Given the description of an element on the screen output the (x, y) to click on. 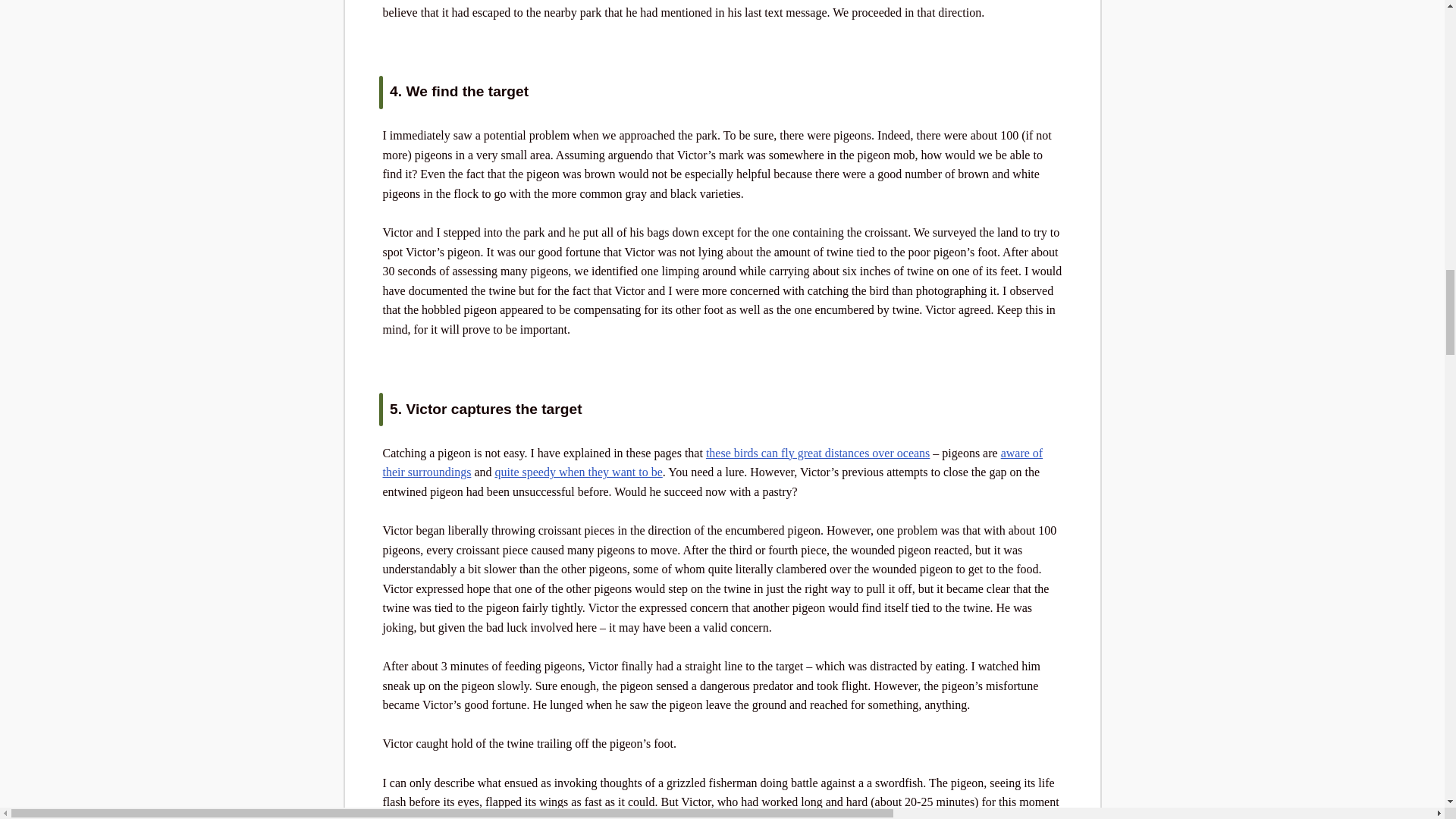
aware of their surroundings (711, 462)
these birds can fly great distances over oceans (818, 452)
quite speedy when they want to be (578, 472)
